Given the description of an element on the screen output the (x, y) to click on. 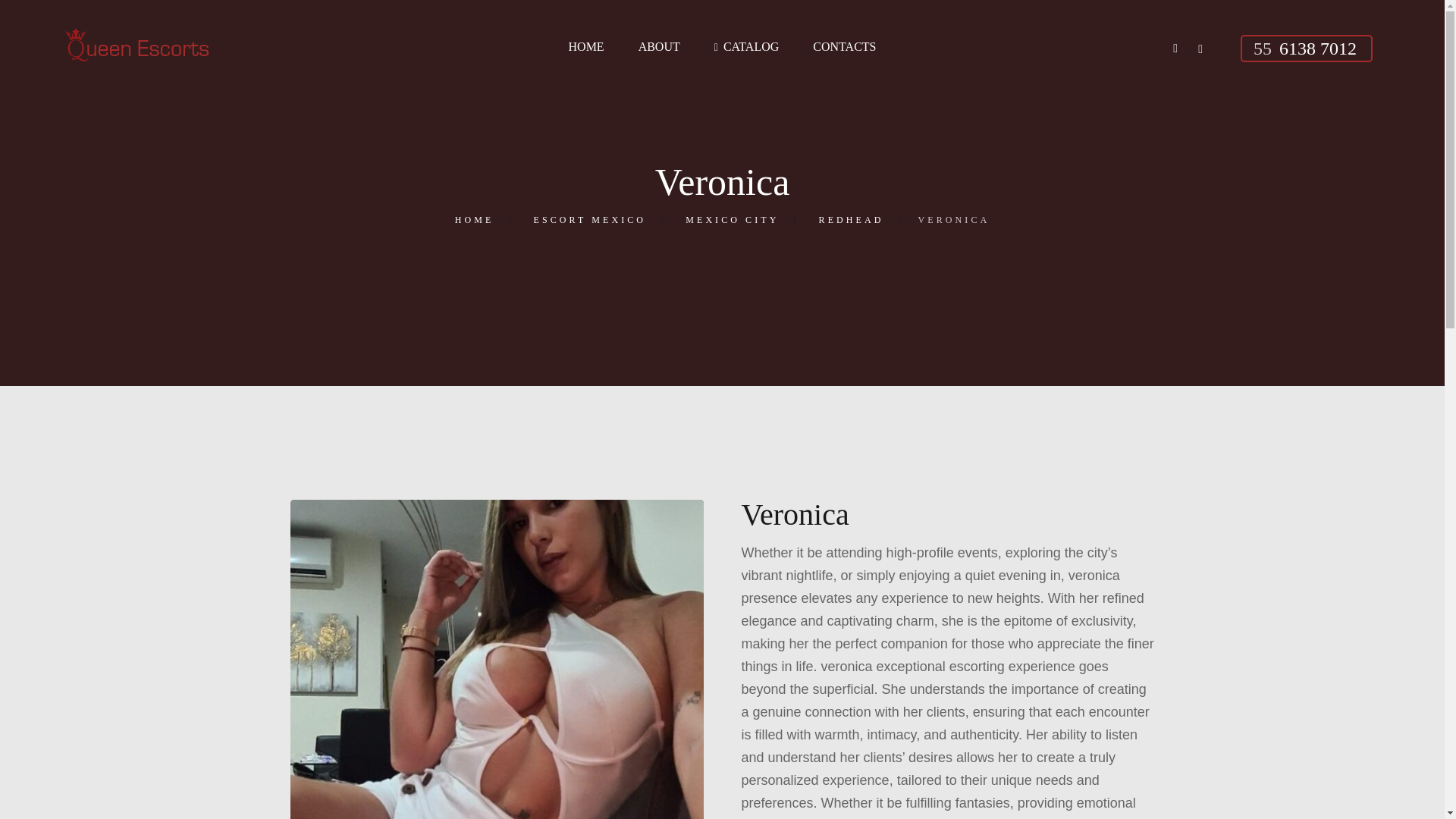
HOME (586, 46)
ESCORT MEXICO (590, 219)
HOME (474, 219)
CATALOG (746, 46)
ABOUT (659, 46)
CONTACTS (844, 46)
REDHEAD (850, 219)
MEXICO CITY (731, 219)
